Given the description of an element on the screen output the (x, y) to click on. 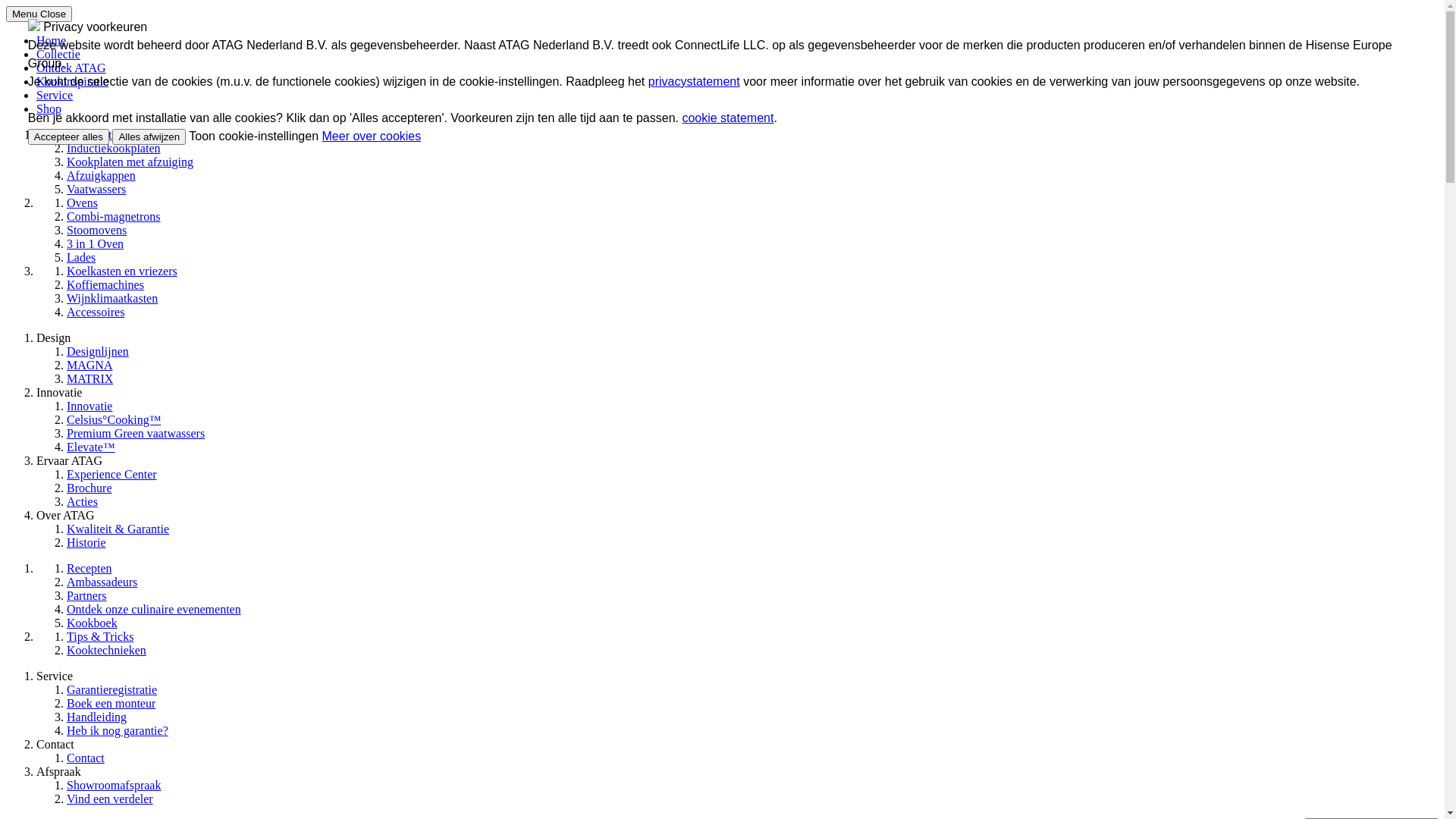
Lades Element type: text (80, 257)
Afzuigkappen Element type: text (100, 175)
Toon cookie-instellingen Element type: text (253, 135)
Designlijnen Element type: text (97, 351)
Kookplaten Element type: text (94, 134)
privacystatement Element type: text (694, 81)
Inductiekookplaten Element type: text (113, 147)
Collectie Element type: text (58, 53)
Koelkasten en vriezers Element type: text (121, 270)
Ovens Element type: text (81, 202)
Home Element type: text (50, 40)
Accessoires Element type: text (95, 311)
Kooktechnieken Element type: text (106, 649)
Vaatwassers Element type: text (95, 188)
Brochure Element type: text (89, 487)
Ambassadeurs Element type: text (101, 581)
Kwaliteit & Garantie Element type: text (117, 528)
Service Element type: text (54, 94)
Premium Green vaatwassers Element type: text (135, 432)
Recepten Element type: text (89, 567)
Tips & Tricks Element type: text (99, 636)
Meer over cookies Element type: text (371, 135)
Ontdek onze culinaire evenementen Element type: text (153, 608)
Menu Close Element type: text (39, 13)
Partners Element type: text (86, 595)
Showroomafspraak Element type: text (113, 784)
Kookboek Element type: text (91, 622)
Koffiemachines Element type: text (105, 284)
Heb ik nog garantie? Element type: text (117, 730)
Boek een monteur Element type: text (110, 702)
3 in 1 Oven Element type: text (94, 243)
Historie Element type: text (86, 542)
Innovatie Element type: text (89, 405)
Accepteer alles Element type: text (68, 136)
Vind een verdeler Element type: text (109, 798)
Combi-magnetrons Element type: text (113, 216)
Kookinspiratie Element type: text (72, 81)
Toon cookie-instellingen Element type: text (254, 135)
Ontdek ATAG Element type: text (71, 67)
MATRIX Element type: text (89, 378)
Contact Element type: text (85, 757)
Shop Element type: text (48, 108)
Wijnklimaatkasten Element type: text (111, 297)
Garantieregistratie Element type: text (111, 689)
MAGNA Element type: text (89, 364)
Kookplaten met afzuiging Element type: text (129, 161)
cookie statement Element type: text (727, 117)
Stoomovens Element type: text (96, 229)
Experience Center Element type: text (111, 473)
Alles afwijzen Element type: text (148, 136)
Acties Element type: text (81, 501)
Handleiding Element type: text (96, 716)
